Given the description of an element on the screen output the (x, y) to click on. 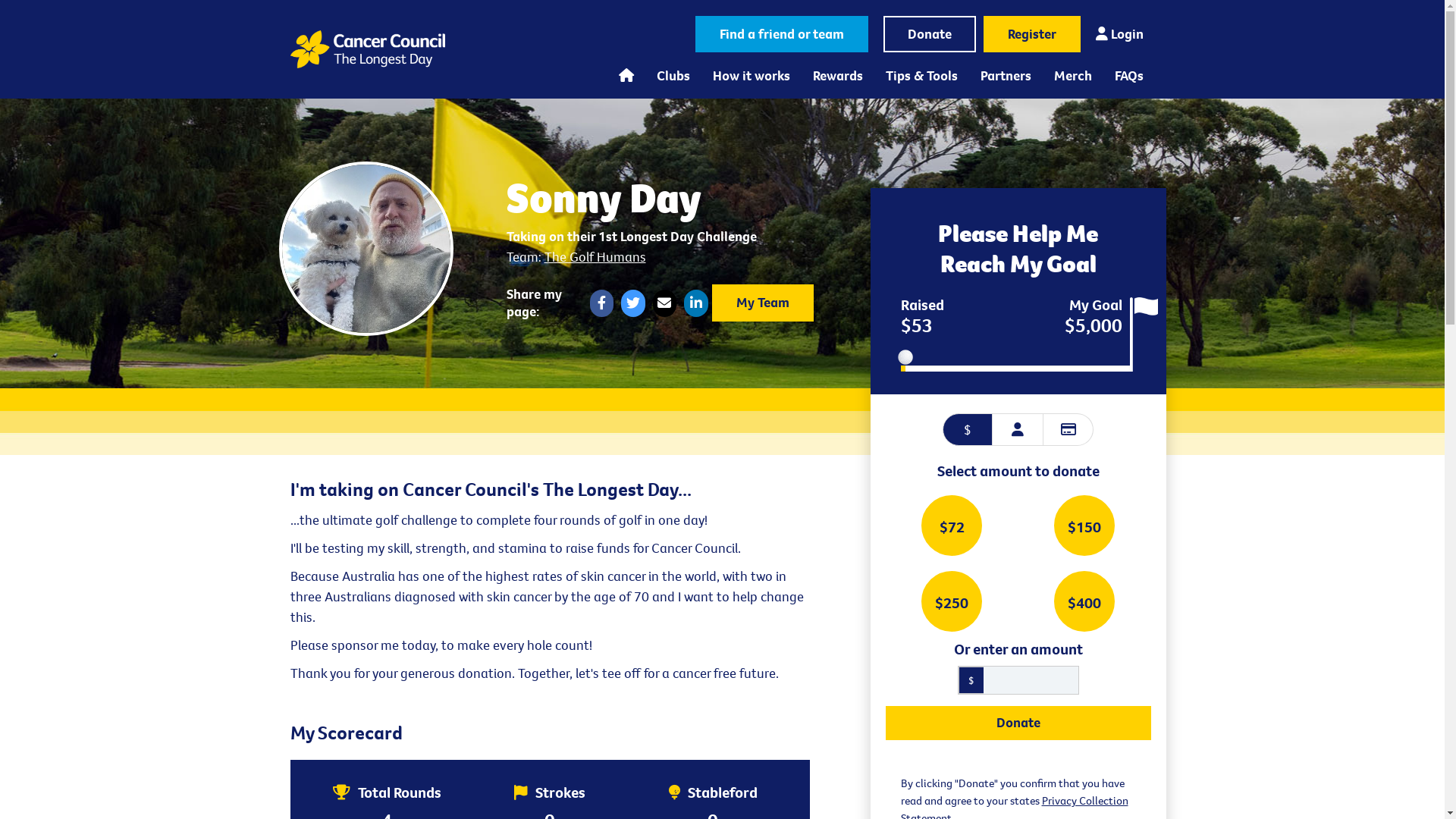
Partners Element type: text (1005, 75)
The Golf Humans Element type: text (595, 256)
$72 Element type: text (951, 525)
Find a friend or team Element type: text (780, 33)
Clubs Element type: text (672, 75)
My Team Element type: text (761, 302)
Merch Element type: text (1071, 75)
Tips & Tools Element type: text (920, 75)
Register Element type: text (1030, 33)
FAQs Element type: text (1128, 75)
How it works Element type: text (750, 75)
Login Element type: text (1119, 33)
Rewards Element type: text (836, 75)
$150 Element type: text (1084, 525)
Donate Element type: text (1018, 723)
Donate Element type: text (928, 33)
$ Element type: text (966, 429)
$250 Element type: text (951, 601)
$400 Element type: text (1084, 601)
